Given the description of an element on the screen output the (x, y) to click on. 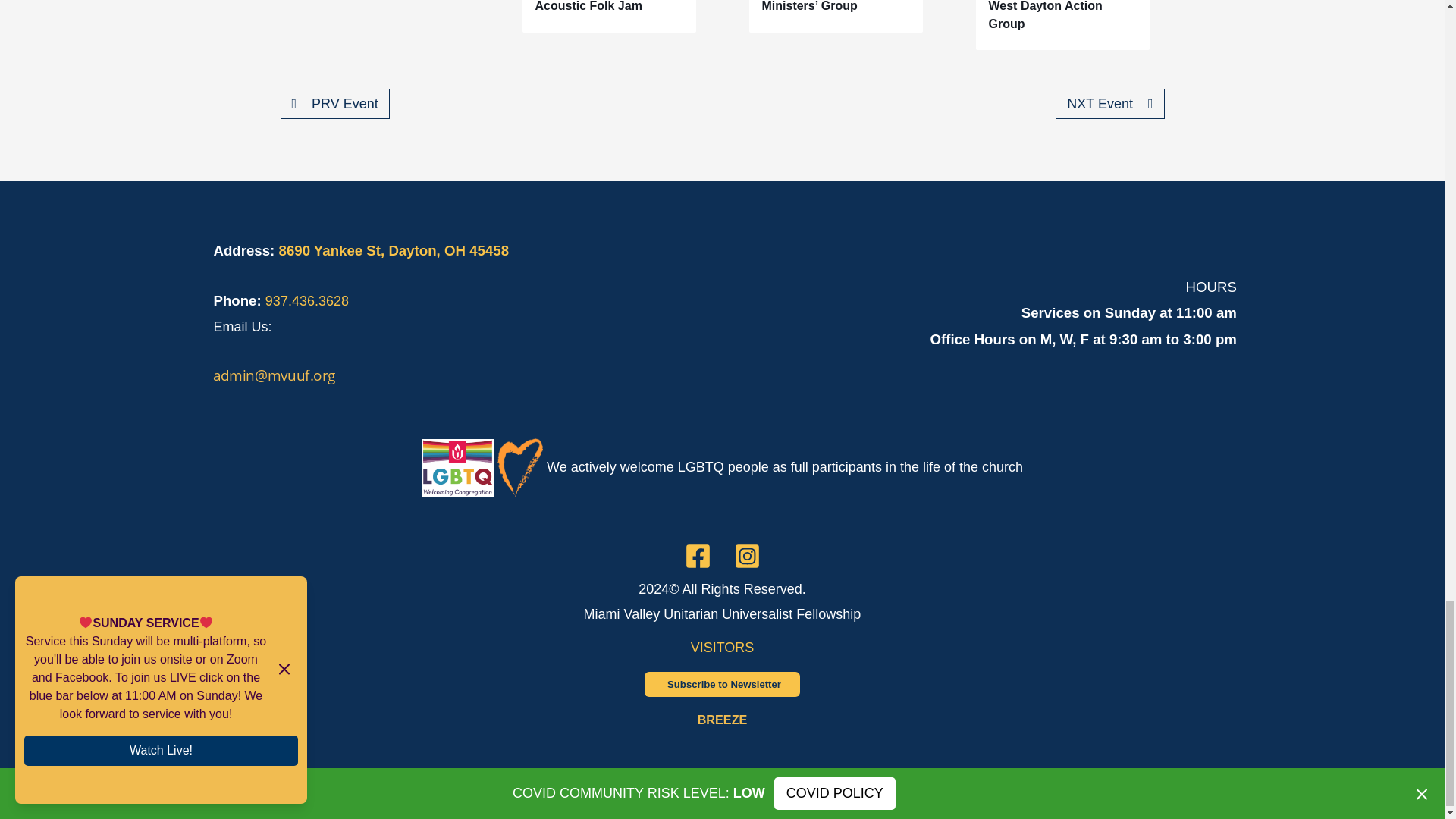
Members Only Login (722, 719)
Side With Love (760, 467)
